Given the description of an element on the screen output the (x, y) to click on. 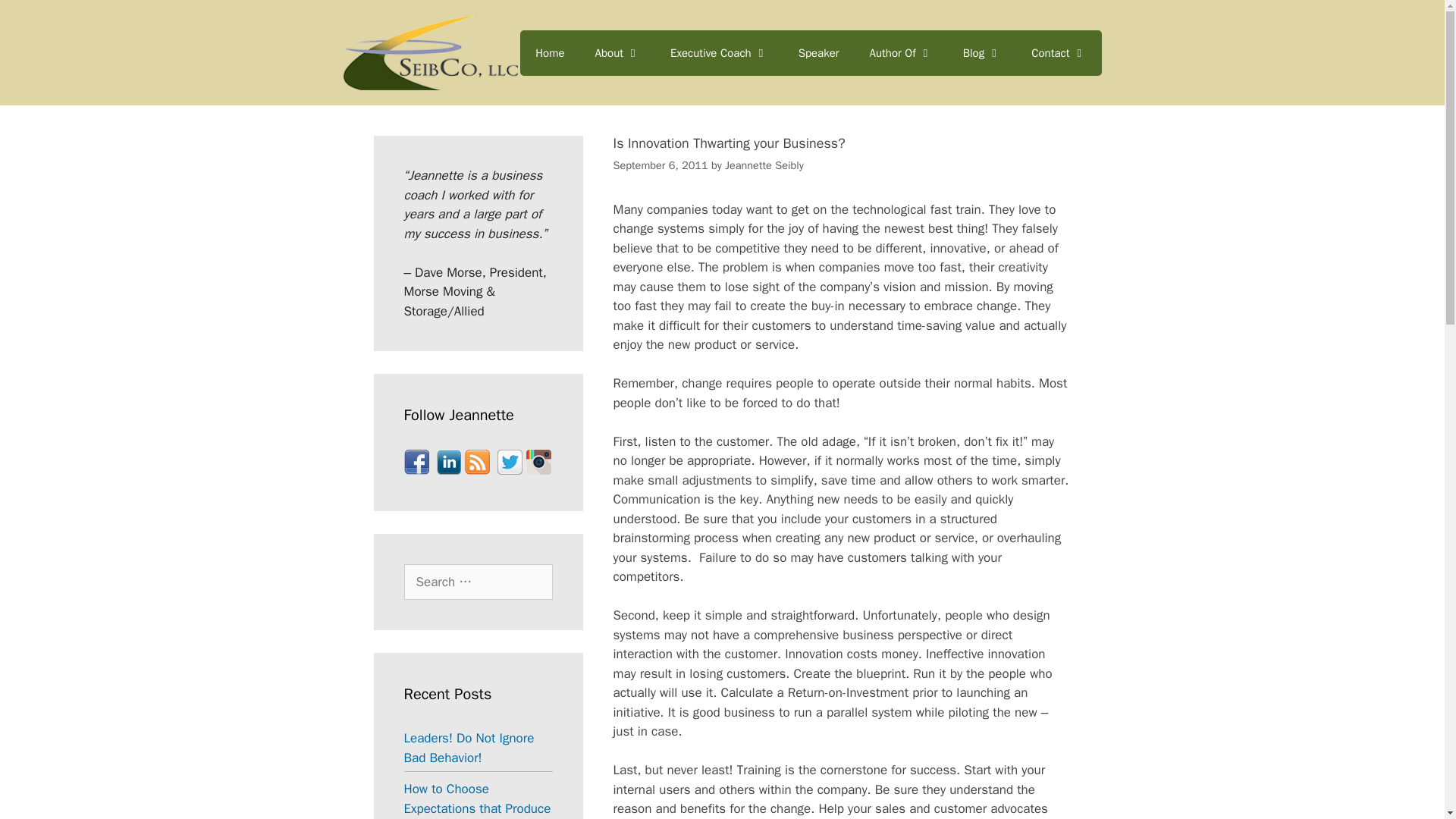
Author Of (900, 53)
View all posts by Jeannette Seibly (764, 164)
Home (549, 53)
About (617, 53)
Blog (981, 53)
Contact (1058, 53)
Jeannette Seibly (764, 164)
Speaker (818, 53)
Search for: (477, 582)
Executive Coach (719, 53)
